Given the description of an element on the screen output the (x, y) to click on. 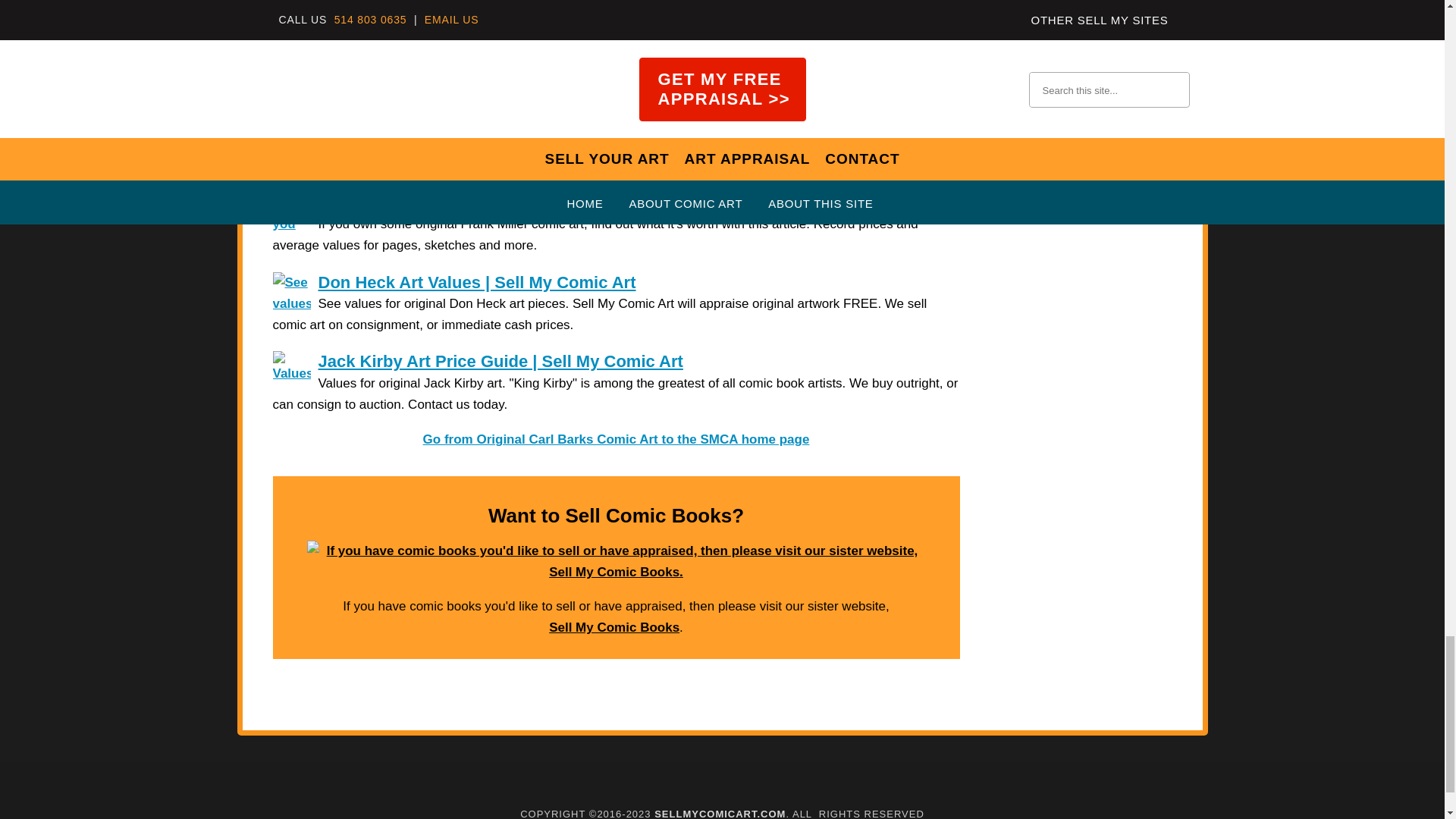
Click to Get a Free Appraisal of Original Comic Book Art! (615, 106)
Frank Miller Comic Art Values (435, 202)
please get in touch (781, 38)
